Given the description of an element on the screen output the (x, y) to click on. 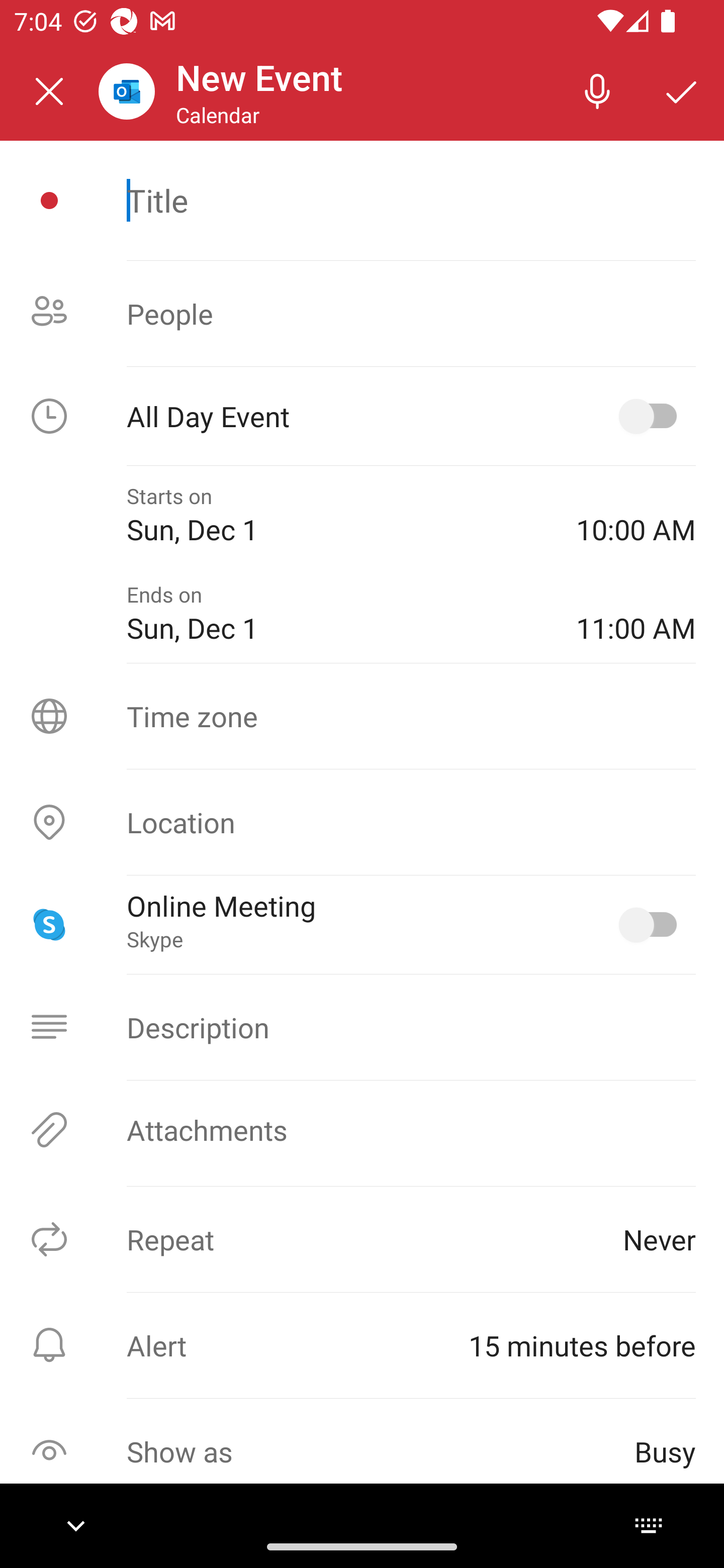
Close (49, 91)
Save (681, 90)
Title (410, 200)
Event icon picker (48, 200)
People (362, 313)
All Day Event (362, 415)
Starts on Sun, Dec 1 (336, 514)
10:00 AM (635, 514)
Ends on Sun, Dec 1 (336, 613)
11:00 AM (635, 613)
Time zone (362, 715)
Location (362, 821)
Online Meeting, Skype selected (651, 923)
Description (362, 1026)
Attachments (362, 1129)
Repeat Never (362, 1239)
Alert ⁨15 minutes before (362, 1345)
Show as Busy (362, 1450)
